Given the description of an element on the screen output the (x, y) to click on. 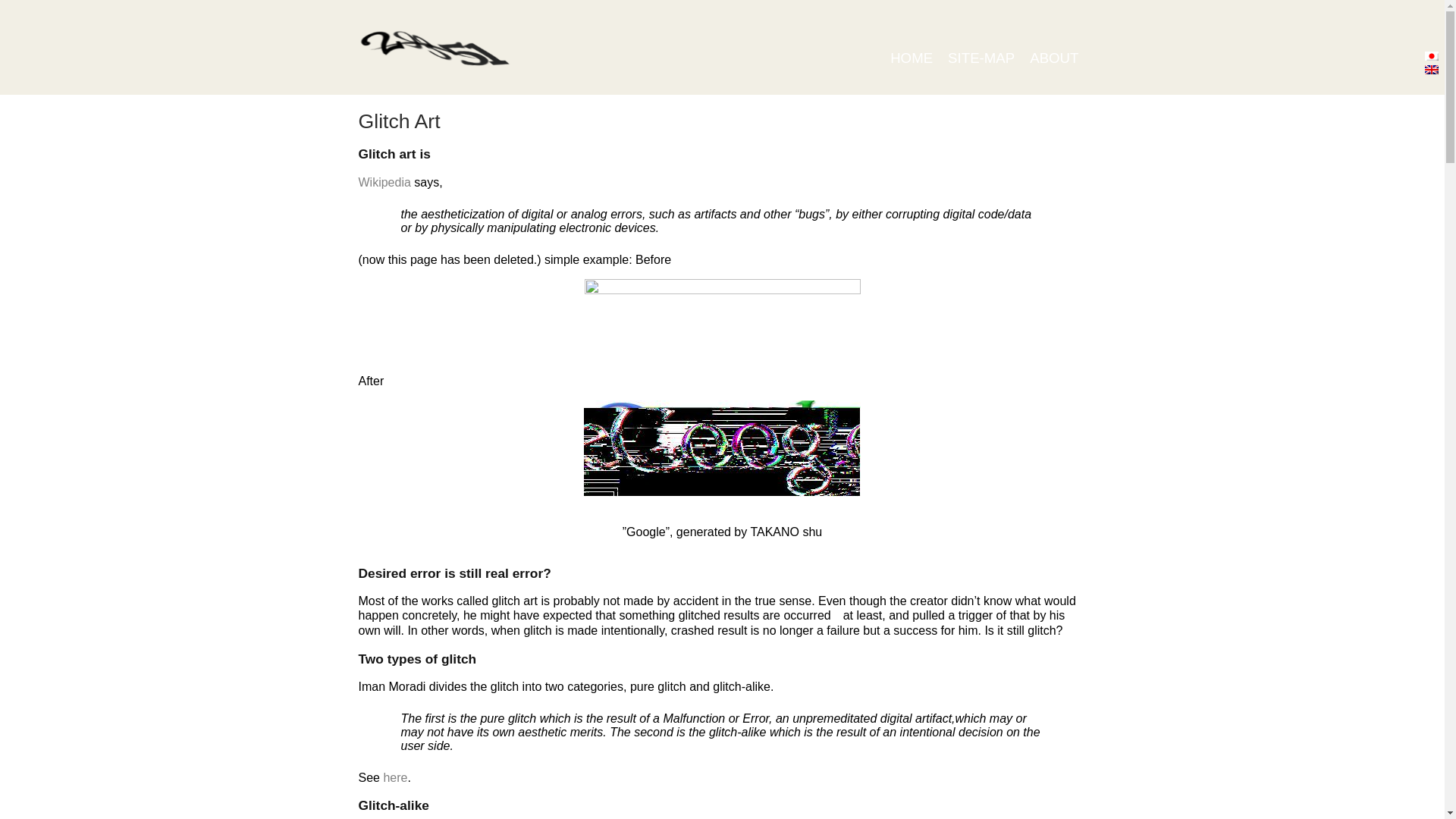
SITE-MAP (981, 57)
Glitch Art (398, 120)
English (1430, 69)
Glitch Art (398, 120)
HOME (911, 57)
ABOUT (1054, 57)
Glitched Google (721, 448)
Wikipedia (384, 182)
here (394, 777)
